Given the description of an element on the screen output the (x, y) to click on. 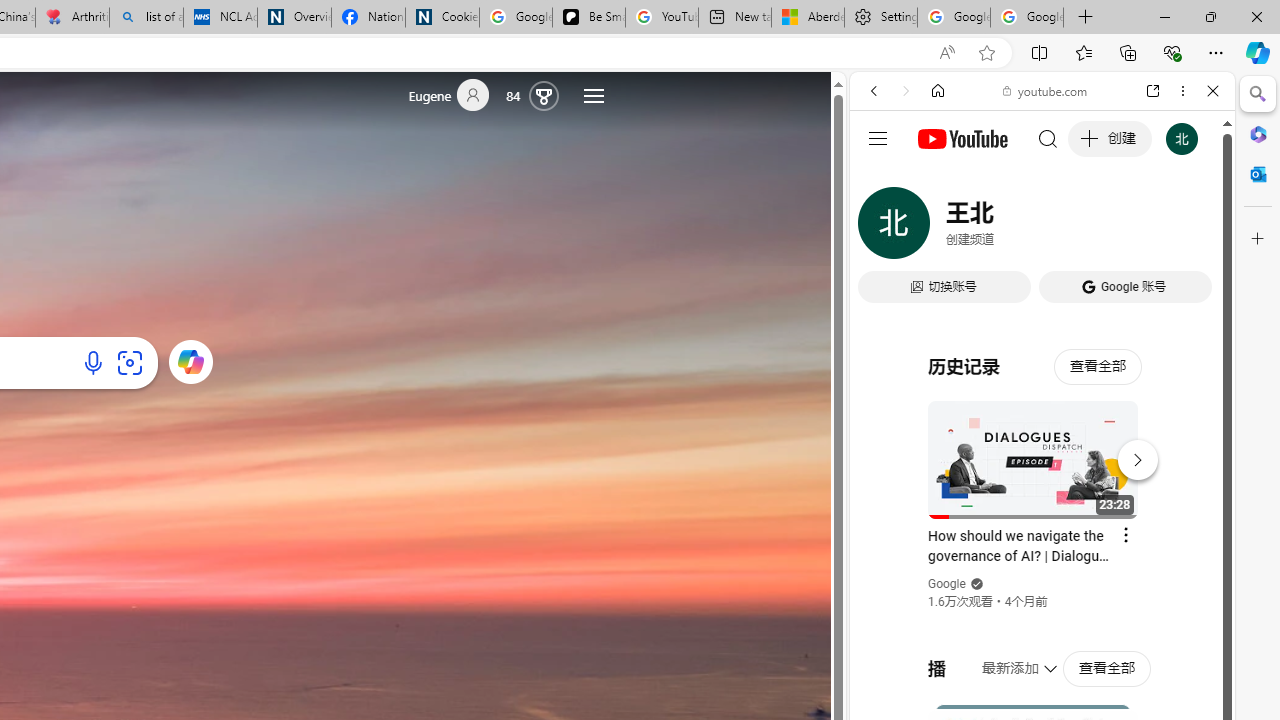
Search using voice (93, 362)
Cookies (441, 17)
Eugene (457, 95)
